Given the description of an element on the screen output the (x, y) to click on. 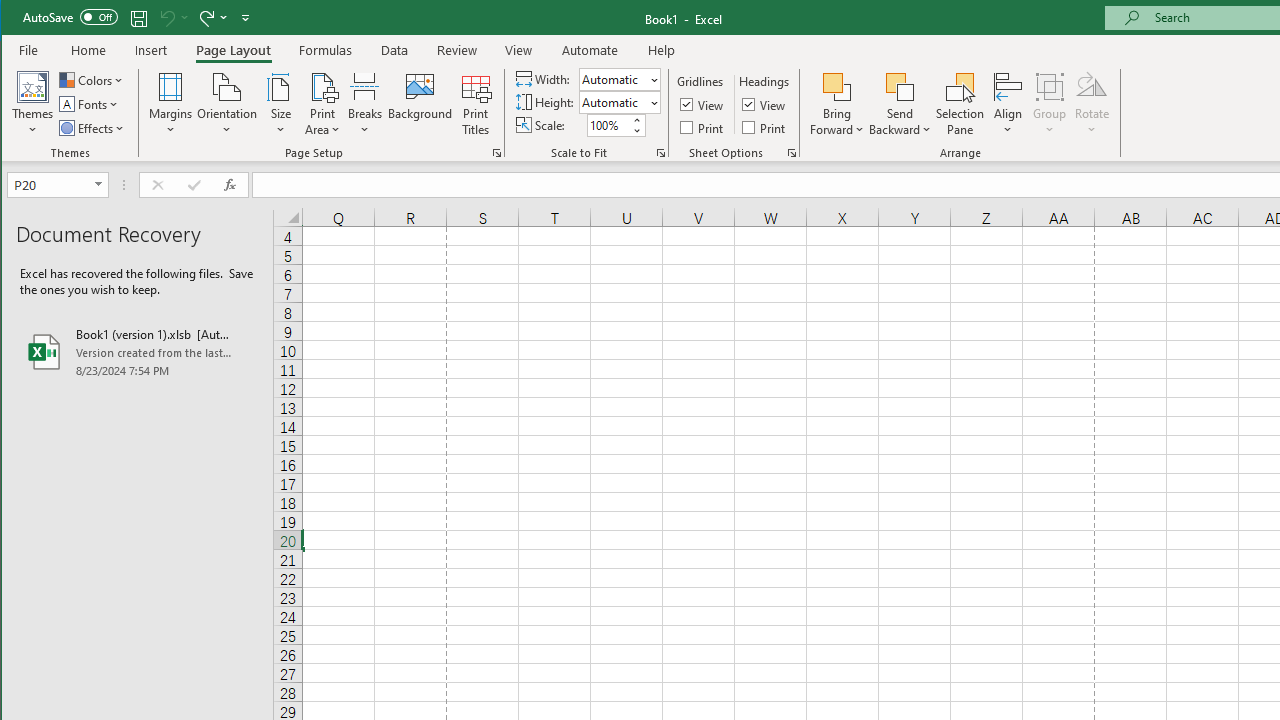
Effects (93, 127)
Breaks (365, 104)
Themes (33, 104)
Width (612, 79)
Bring Forward (836, 104)
Width (619, 78)
Height (619, 101)
Orientation (226, 104)
Margins (170, 104)
Colors (93, 80)
Less (636, 130)
